Given the description of an element on the screen output the (x, y) to click on. 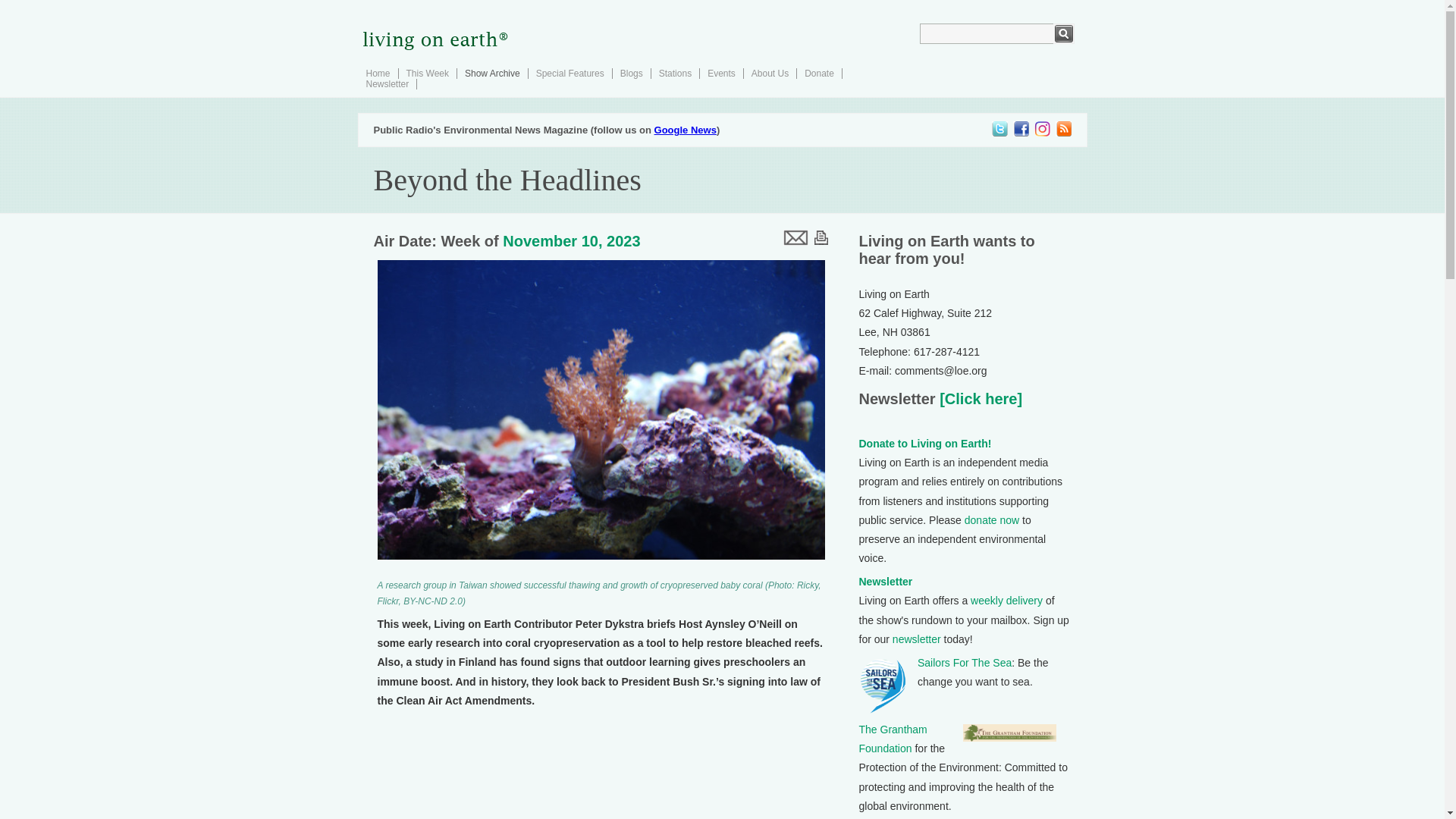
Blogs (631, 72)
November 10, 2023 (571, 240)
print (819, 236)
Newsletter (387, 83)
donate now (991, 520)
Newsletter (885, 581)
Donate (819, 72)
email (794, 236)
weekly delivery (1006, 600)
Special Features (569, 72)
Events (721, 72)
This Week (427, 72)
Stations (675, 72)
Google News (684, 129)
Home (377, 72)
